Given the description of an element on the screen output the (x, y) to click on. 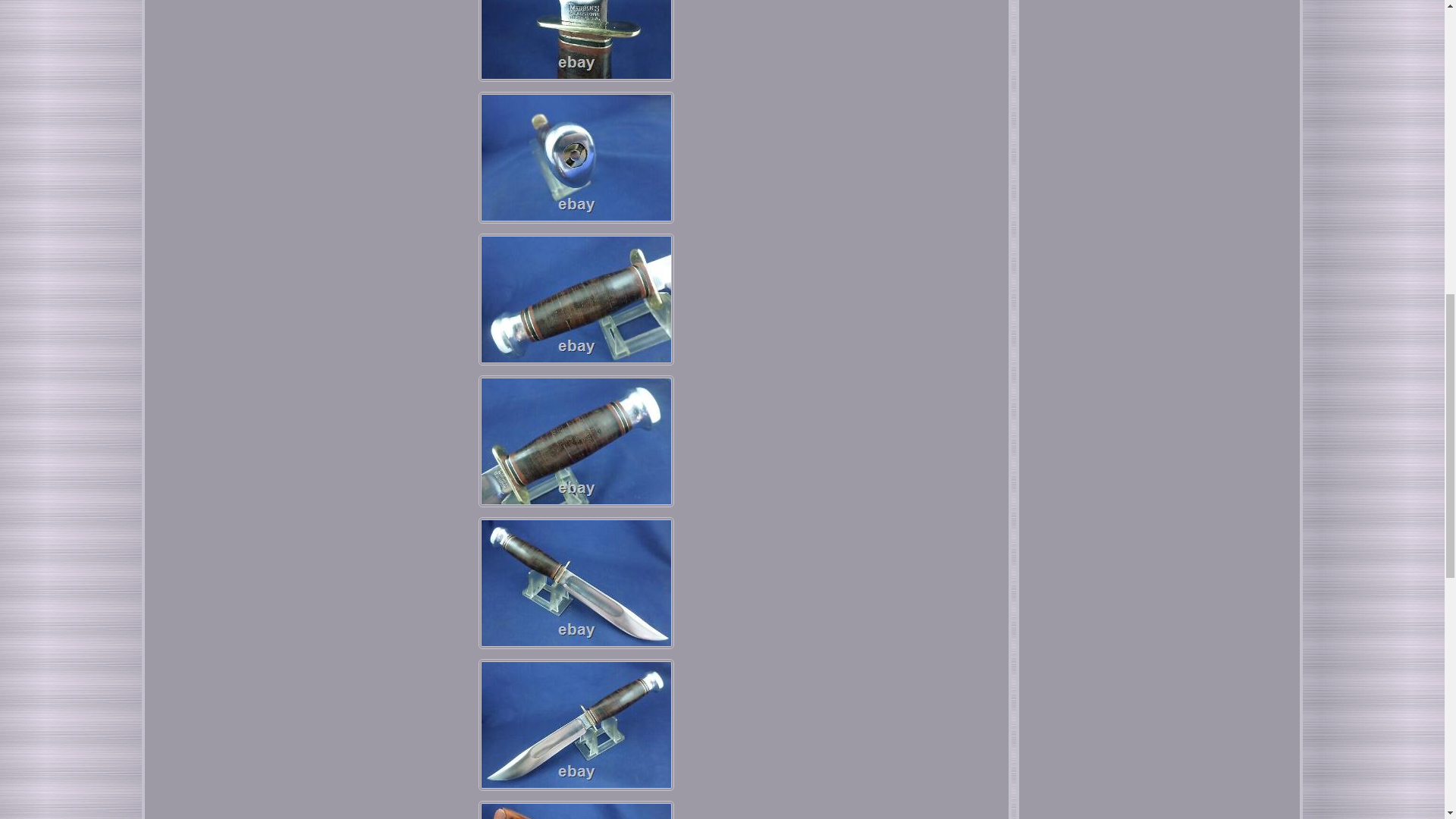
Vintage Marbles Gladstone Knife with Sheath (576, 40)
Vintage Marbles Gladstone Knife with Sheath (576, 157)
Vintage Marbles Gladstone Knife with Sheath (576, 299)
Vintage Marbles Gladstone Knife with Sheath (576, 725)
Vintage Marbles Gladstone Knife with Sheath (576, 582)
Vintage Marbles Gladstone Knife with Sheath (576, 809)
Vintage Marbles Gladstone Knife with Sheath (576, 440)
